Given the description of an element on the screen output the (x, y) to click on. 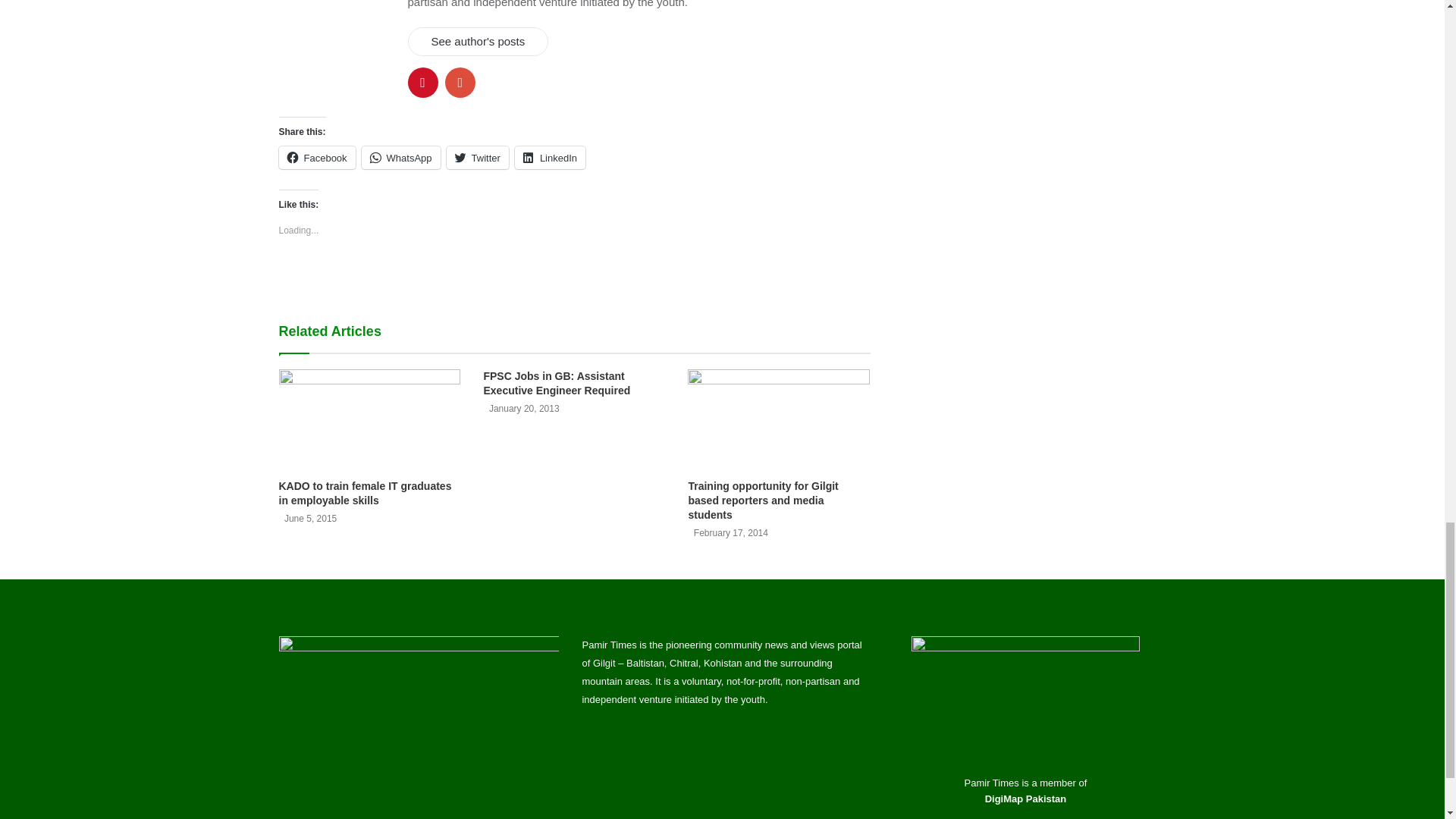
Facebook (317, 157)
Click to share on Facebook (317, 157)
Click to share on Twitter (477, 157)
Click to share on LinkedIn (550, 157)
Twitter (477, 157)
See author's posts (477, 41)
Click to share on WhatsApp (401, 157)
LinkedIn (550, 157)
WhatsApp (401, 157)
